Given the description of an element on the screen output the (x, y) to click on. 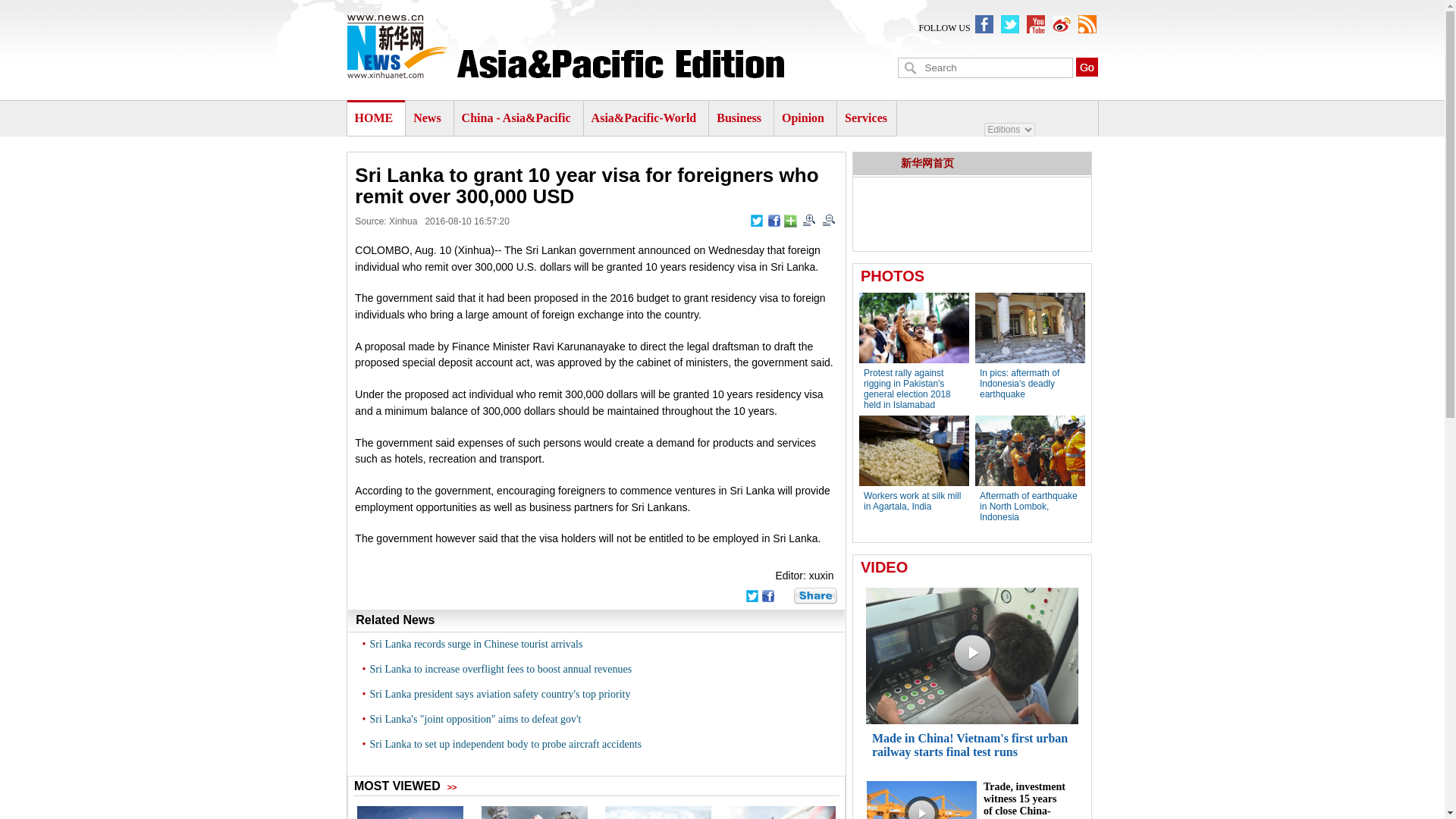
XinhuanetNews twitter (1010, 24)
More (815, 596)
Services (865, 117)
Go (1086, 66)
XinhuanetNews youbute (1035, 24)
HOME (374, 117)
Go (1086, 66)
More (790, 220)
News (427, 117)
xinhuanet english rss (1087, 24)
Business (738, 117)
newsxinhuanet facebook (983, 24)
Opinion (802, 117)
xinhuaenglish weibo (1061, 24)
